Given the description of an element on the screen output the (x, y) to click on. 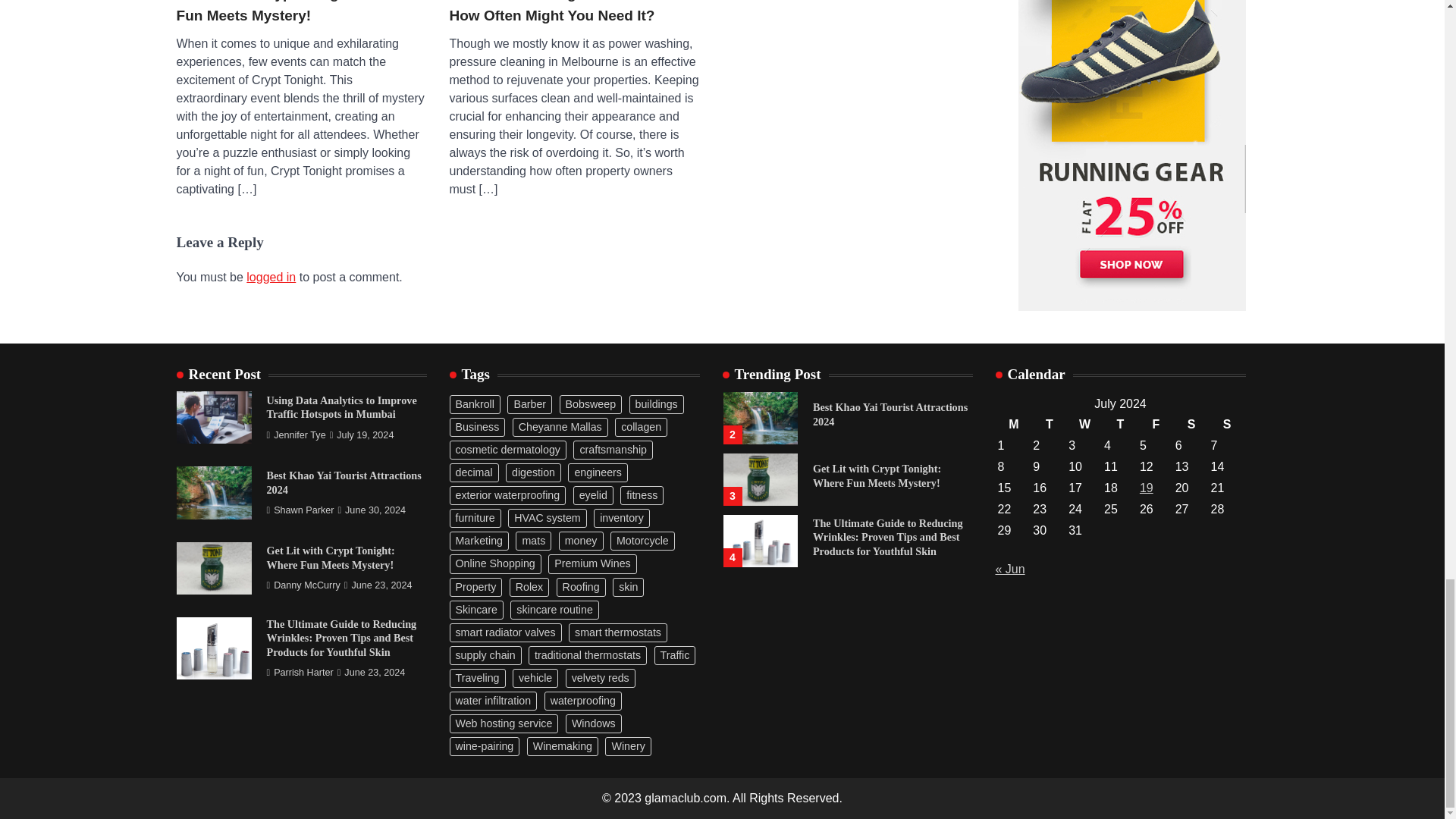
logged in (270, 277)
Sunday (1226, 424)
Friday (1155, 424)
Pressure Cleaning In Melbourne: How Often Might You Need It? (573, 13)
Saturday (1191, 424)
Wednesday (1084, 424)
Thursday (1120, 424)
Get Lit with Crypt Tonight: Where Fun Meets Mystery! (301, 13)
Tuesday (1048, 424)
Monday (1012, 424)
